Given the description of an element on the screen output the (x, y) to click on. 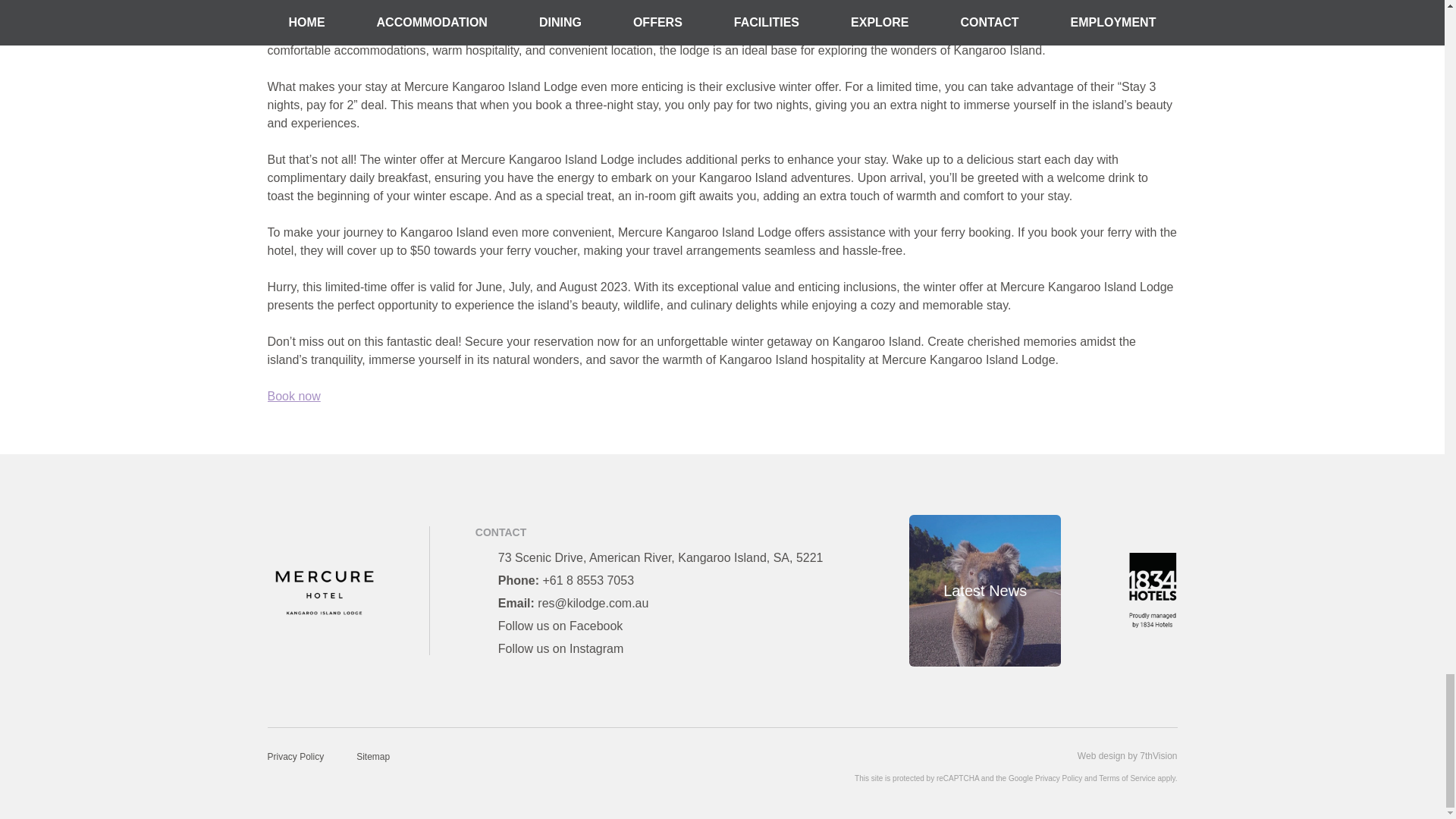
Privacy Policy (1058, 777)
Follow us on Instagram (560, 648)
Latest News (984, 590)
Book now (293, 395)
Follow us on Facebook (560, 625)
Terms of Service (1126, 777)
Sitemap (373, 756)
Privacy Policy (294, 756)
Web design by 7thVision (1127, 756)
